Given the description of an element on the screen output the (x, y) to click on. 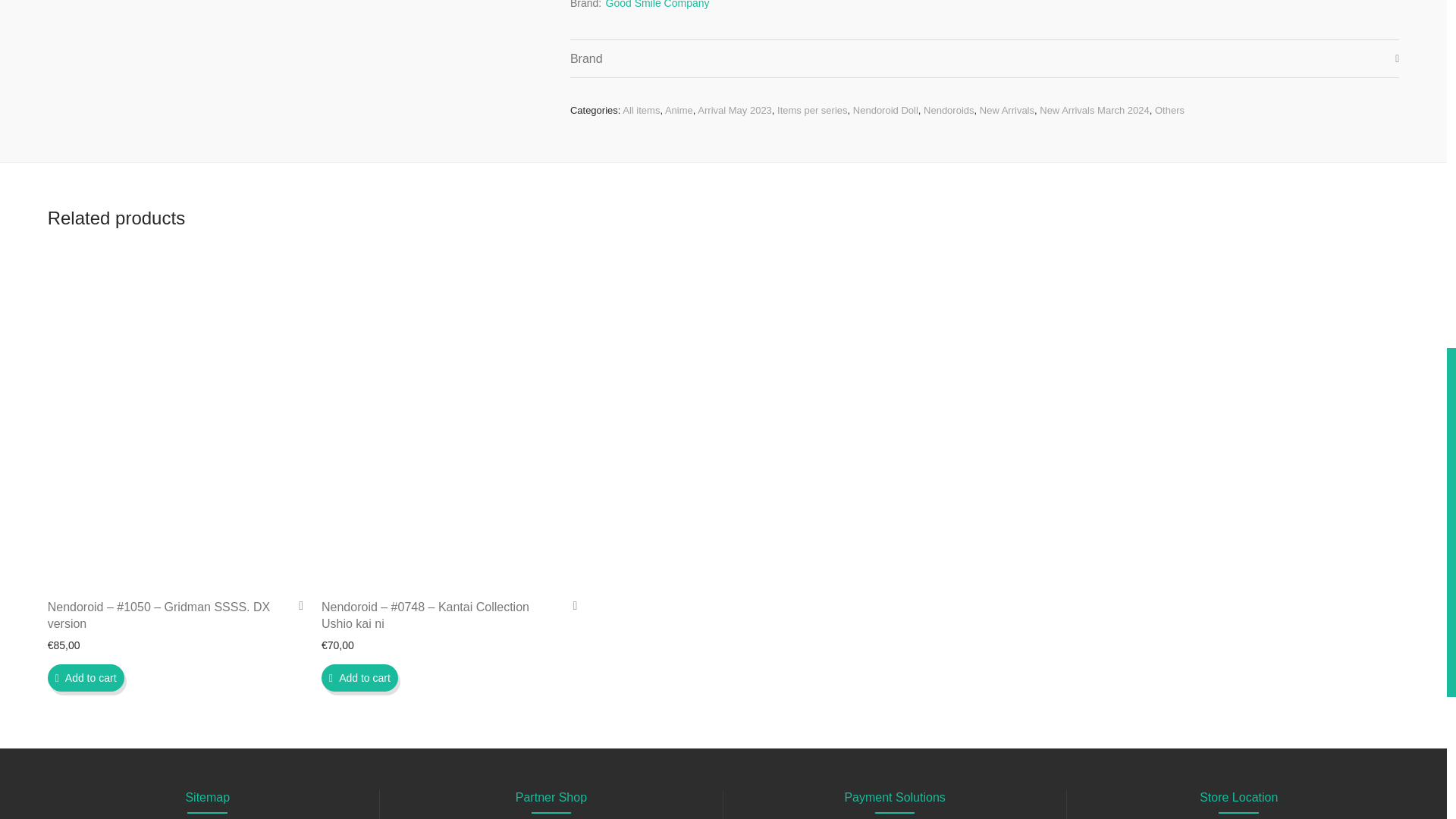
View brand (657, 6)
Anime (679, 110)
Add to Wishlist (569, 604)
Add to Wishlist (295, 604)
Good Smile Company (657, 6)
All items (641, 110)
Brand (984, 58)
Arrival May 2023 (734, 110)
